Given the description of an element on the screen output the (x, y) to click on. 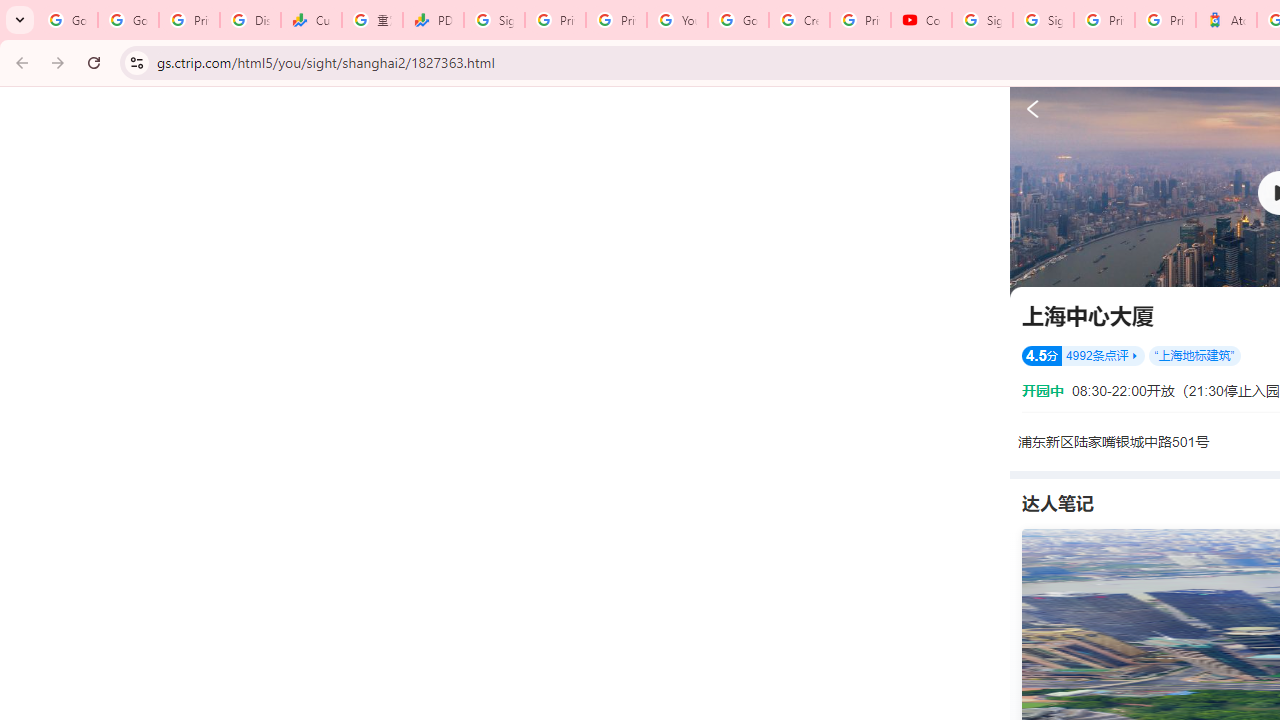
Sign in - Google Accounts (1042, 20)
View site information (136, 62)
Sign in - Google Accounts (982, 20)
Sign in - Google Accounts (493, 20)
Reload (93, 62)
Content Creator Programs & Opportunities - YouTube Creators (921, 20)
Google Account Help (738, 20)
